Given the description of an element on the screen output the (x, y) to click on. 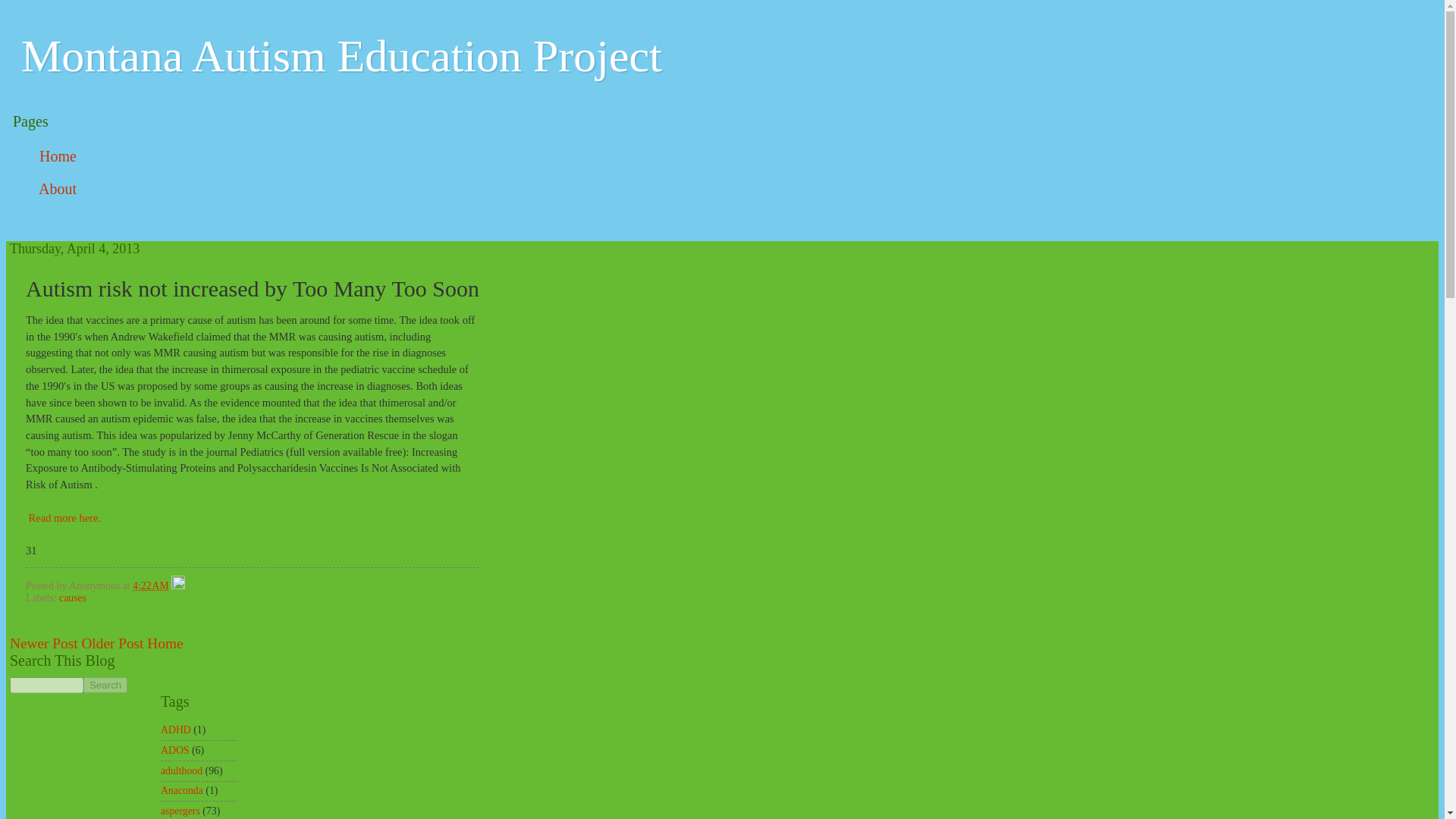
Montana Autism Education Project (341, 56)
About (58, 188)
Older Post (111, 643)
aspergers (180, 810)
Search (105, 684)
Home (165, 643)
Anaconda (181, 790)
search (105, 684)
search (46, 684)
permanent link (150, 585)
Home (58, 156)
Search (105, 684)
Newer Post (44, 643)
adulthood (181, 770)
